Given the description of an element on the screen output the (x, y) to click on. 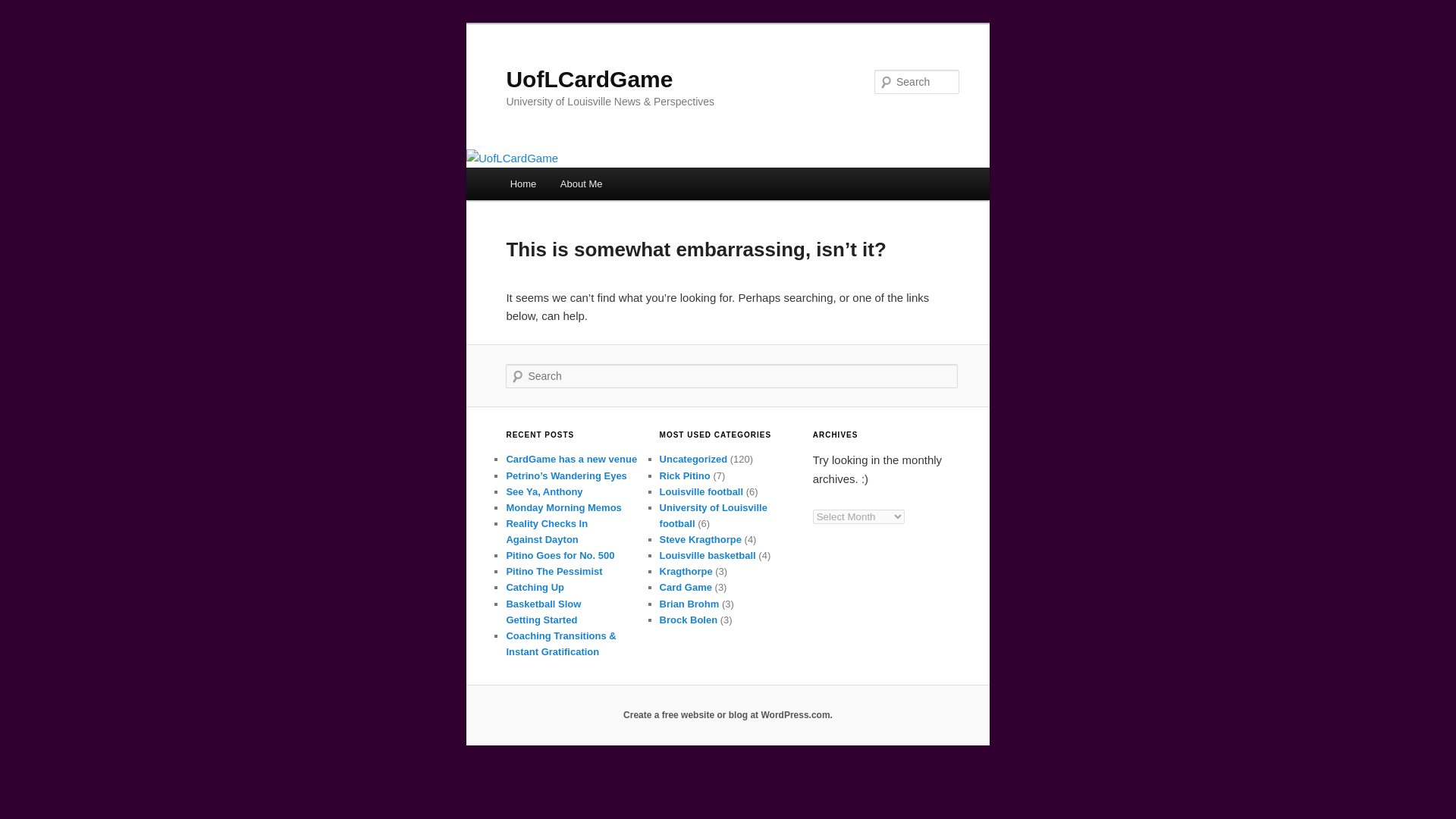
Louisville basketball (707, 555)
About Me (581, 183)
Kragthorpe (686, 571)
Louisville football (701, 491)
Search (24, 8)
CardGame has a new venue (571, 459)
Home (522, 183)
Brian Brohm (689, 603)
Basketball Slow Getting Started (542, 611)
